Given the description of an element on the screen output the (x, y) to click on. 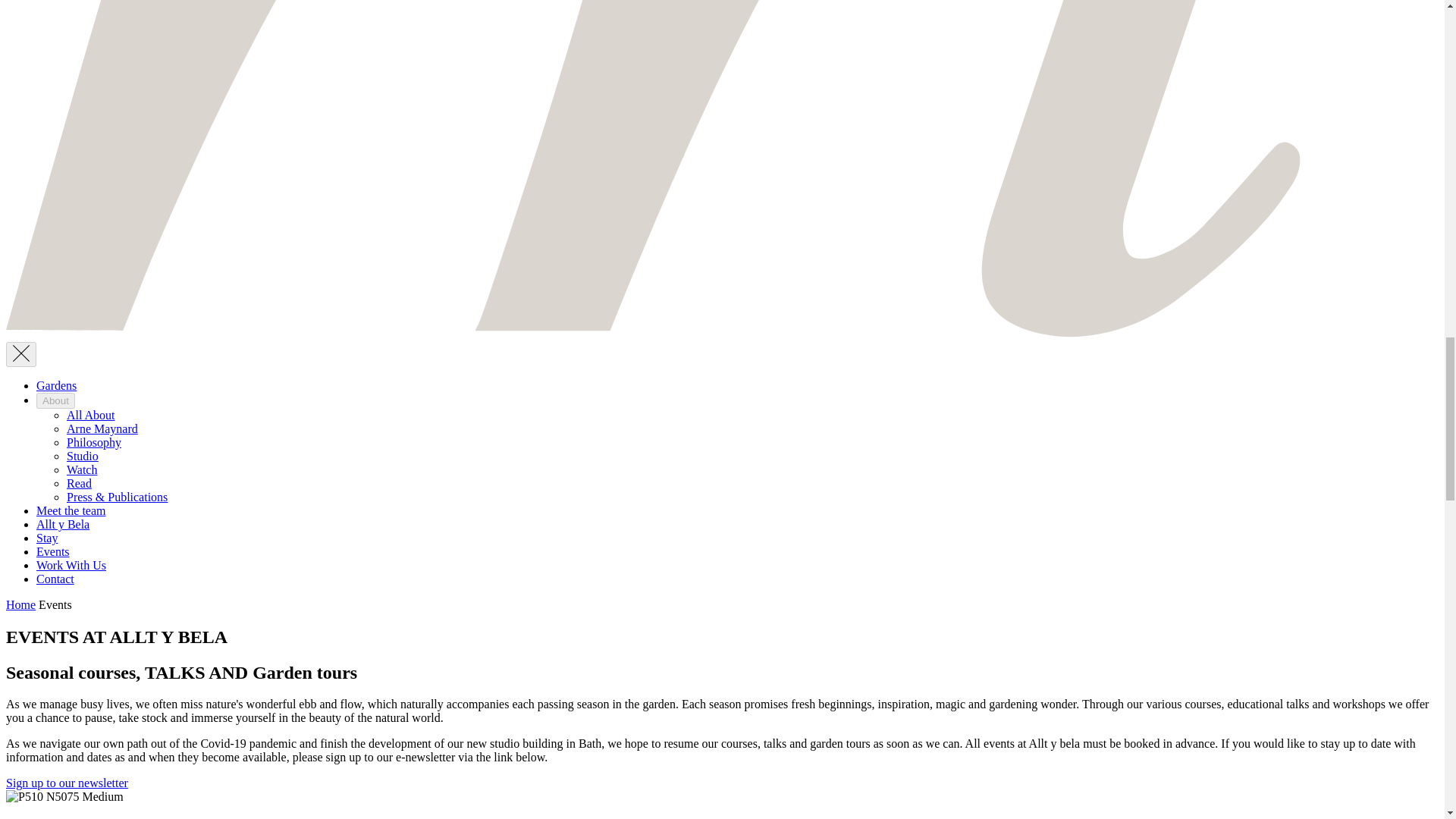
Home (19, 604)
Sign up to our newsletter (66, 782)
Sign up to our newsletter (66, 782)
Arne Maynard (102, 428)
Allt y Bela (62, 523)
Gardens (56, 385)
About (55, 400)
Events (55, 604)
Contact (55, 578)
Events (52, 551)
